Given the description of an element on the screen output the (x, y) to click on. 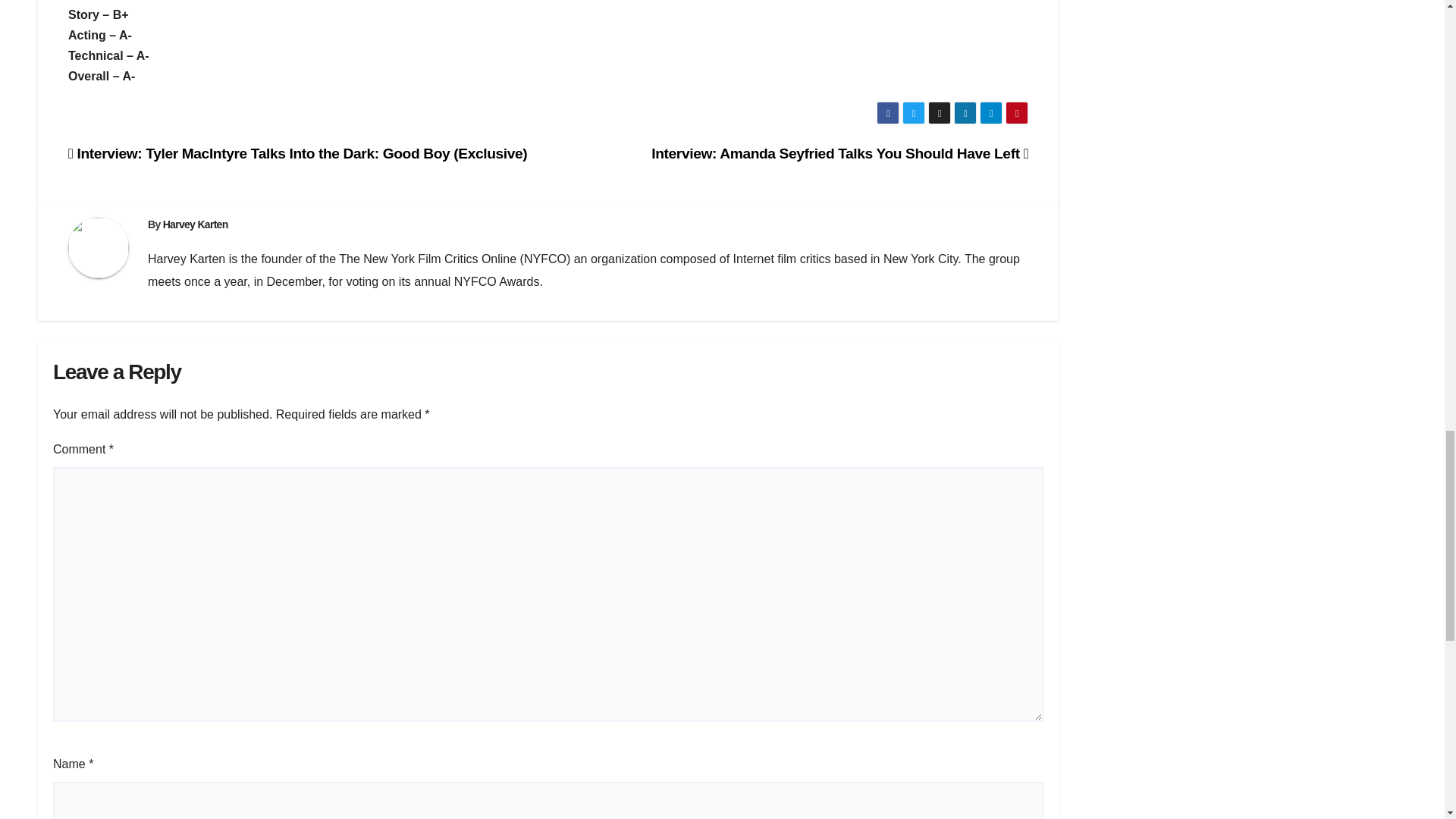
Harvey Karten (195, 224)
Interview: Amanda Seyfried Talks You Should Have Left (838, 153)
